Given the description of an element on the screen output the (x, y) to click on. 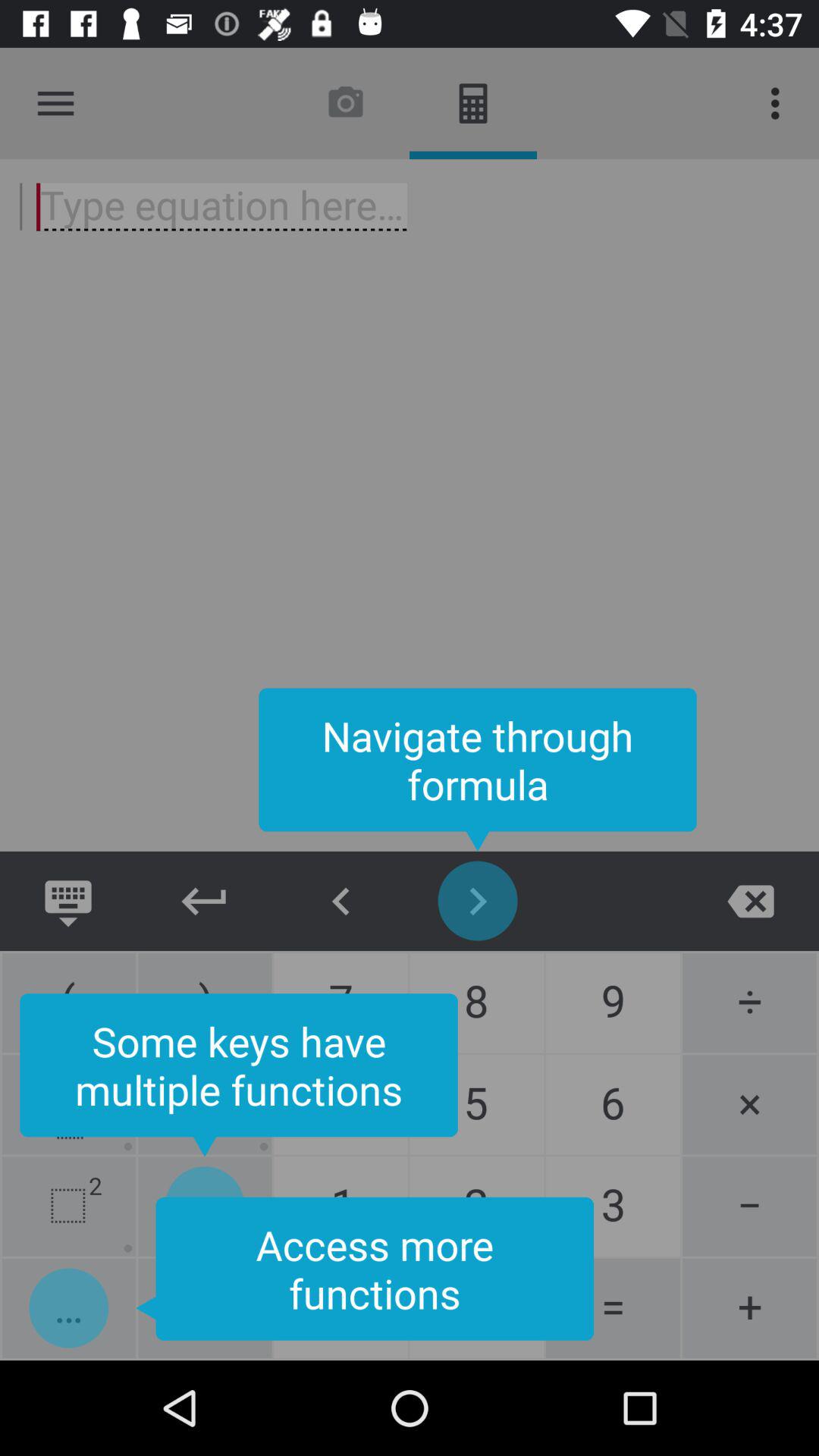
new line return (204, 900)
